Given the description of an element on the screen output the (x, y) to click on. 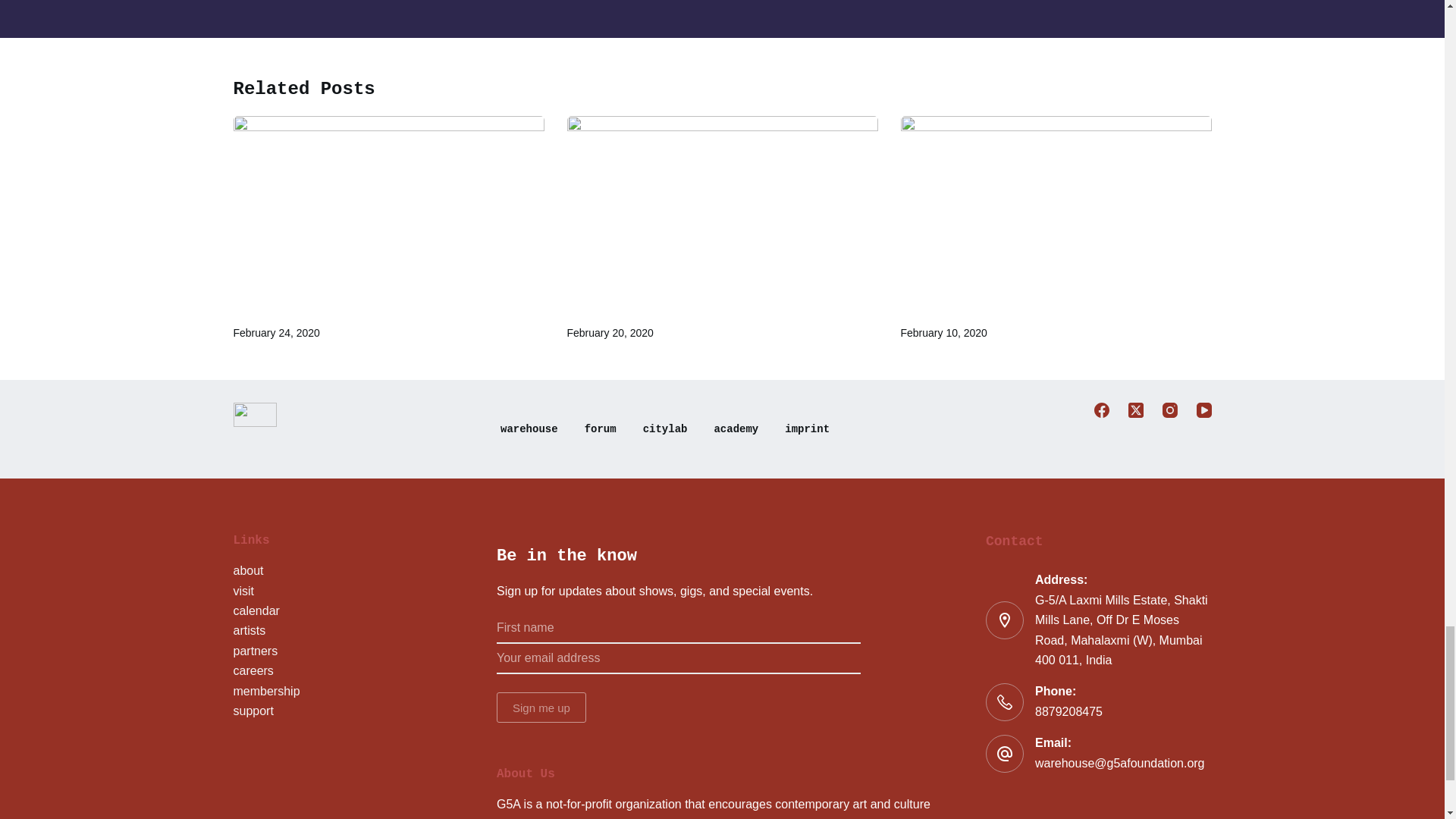
Sign me up (541, 707)
